Given the description of an element on the screen output the (x, y) to click on. 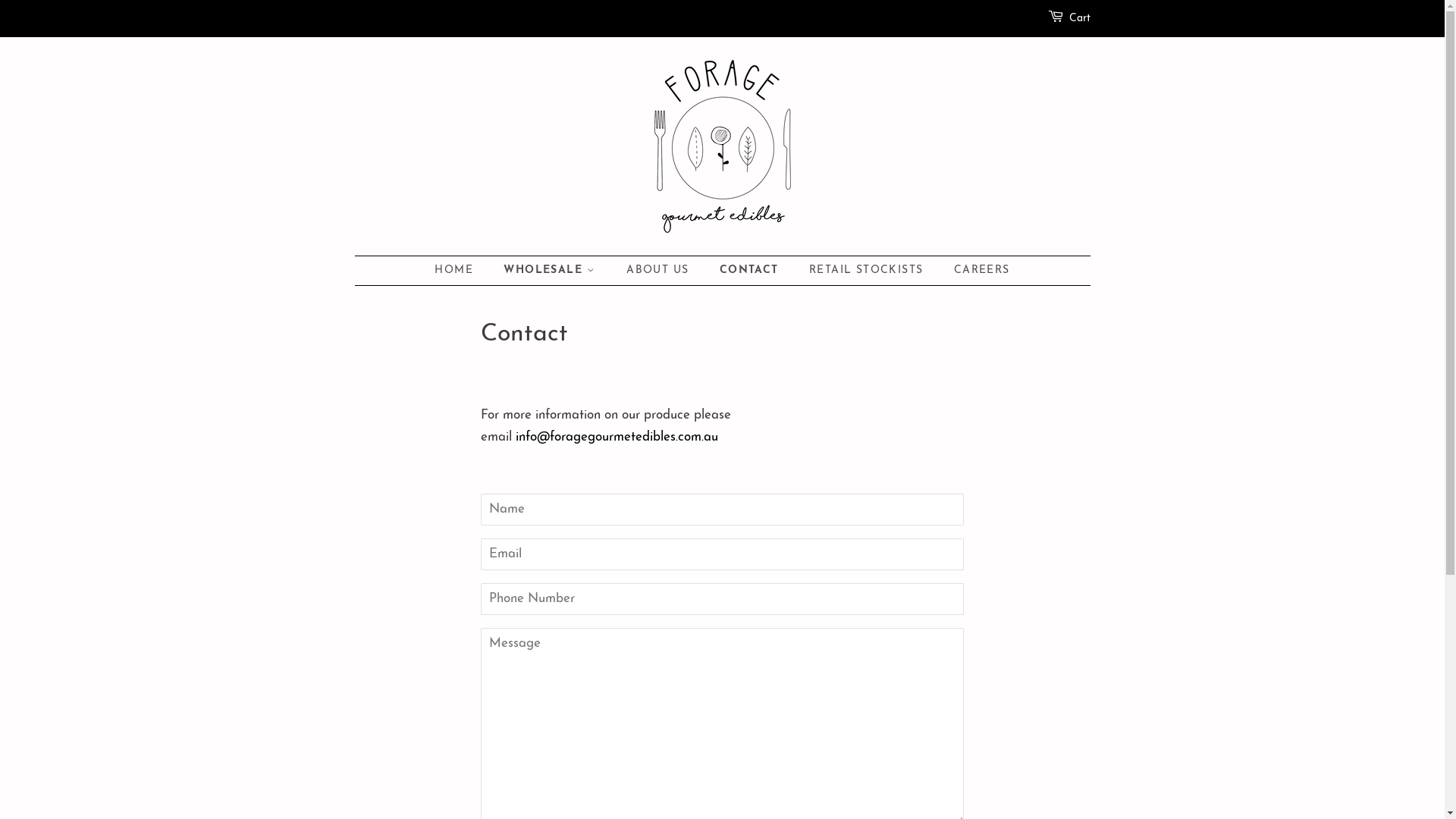
ABOUT US Element type: text (659, 270)
RETAIL STOCKISTS Element type: text (867, 270)
CONTACT Element type: text (750, 270)
WHOLESALE Element type: text (551, 270)
Cart Element type: text (1079, 18)
info@foragegourmetedibles.com.au Element type: text (616, 436)
HOME Element type: text (461, 270)
CAREERS Element type: text (976, 270)
